Given the description of an element on the screen output the (x, y) to click on. 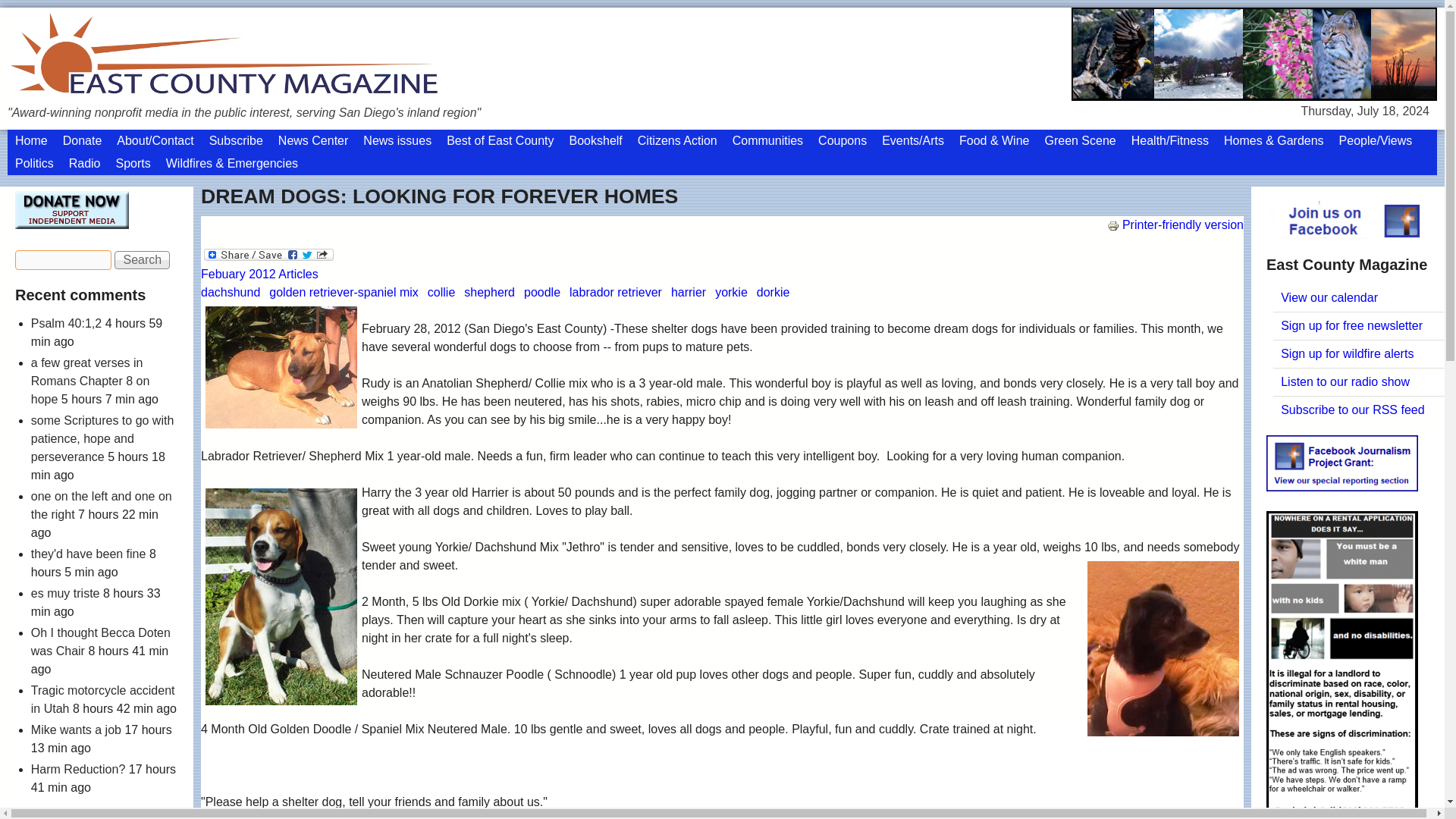
News issues (397, 140)
Subscribe (236, 140)
Donate (82, 140)
News Center (312, 140)
Best of East County (499, 140)
Search (142, 259)
Home (31, 140)
